Given the description of an element on the screen output the (x, y) to click on. 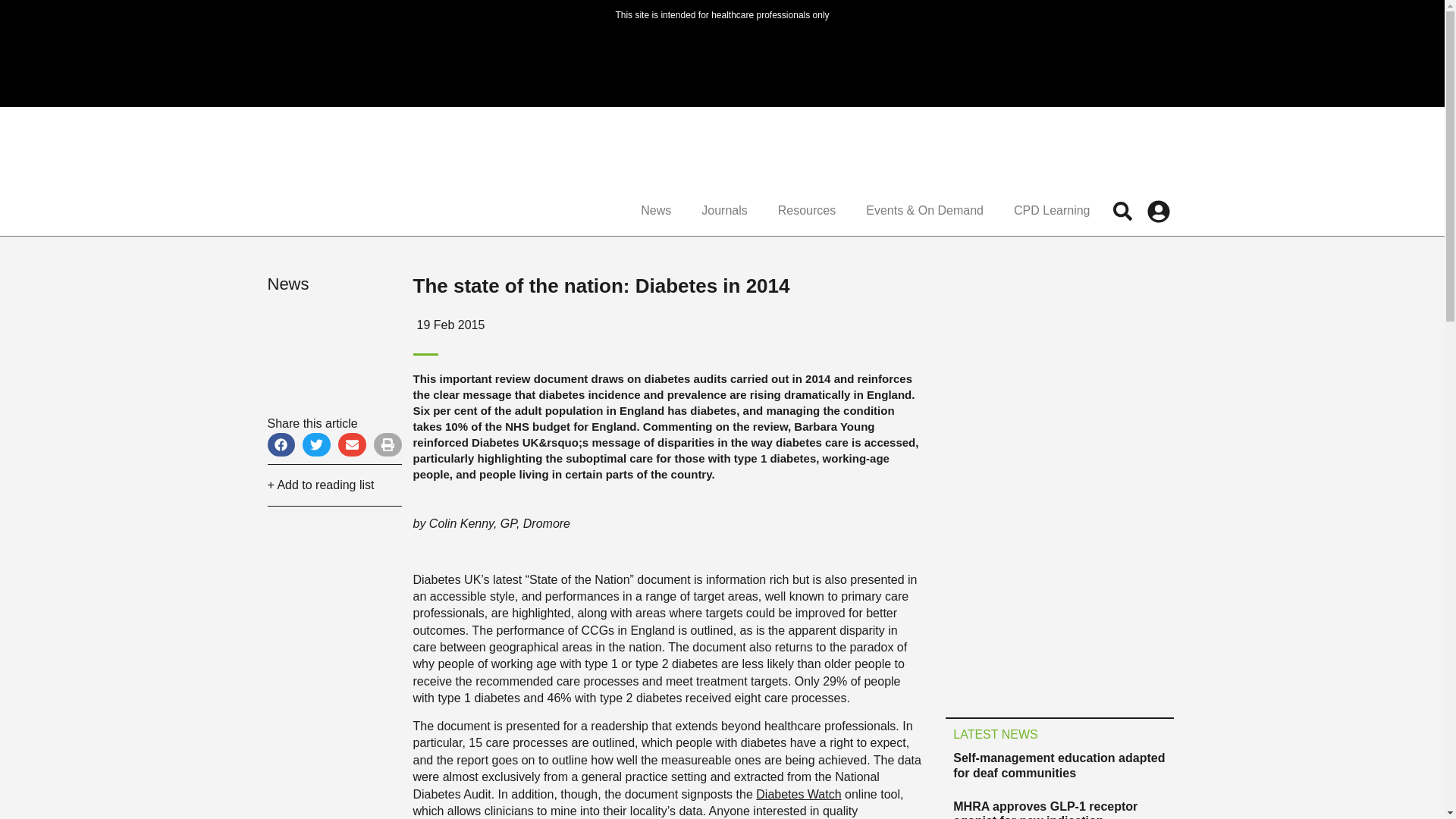
News (655, 210)
Journals (723, 210)
Self-management education adapted for deaf communities (1058, 764)
Resources (806, 210)
Diabetes Watch (798, 793)
MHRA approves GLP-1 receptor agonist for new indication (1045, 809)
CPD Learning (1051, 210)
